Given the description of an element on the screen output the (x, y) to click on. 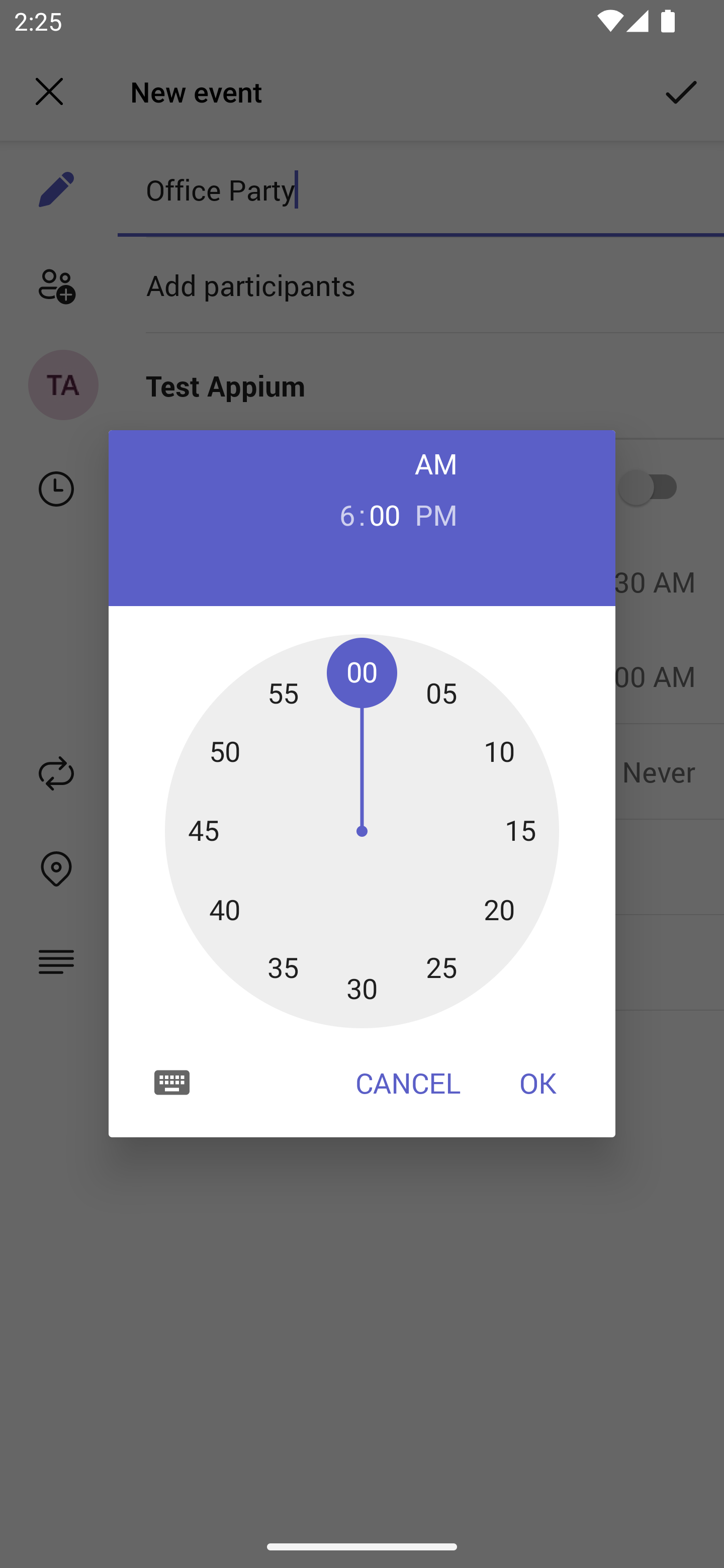
AM (435, 463)
PM (435, 514)
6 (338, 514)
00 (384, 514)
CANCEL (407, 1082)
OK (537, 1082)
Switch to text input mode for the time input. (171, 1081)
